Given the description of an element on the screen output the (x, y) to click on. 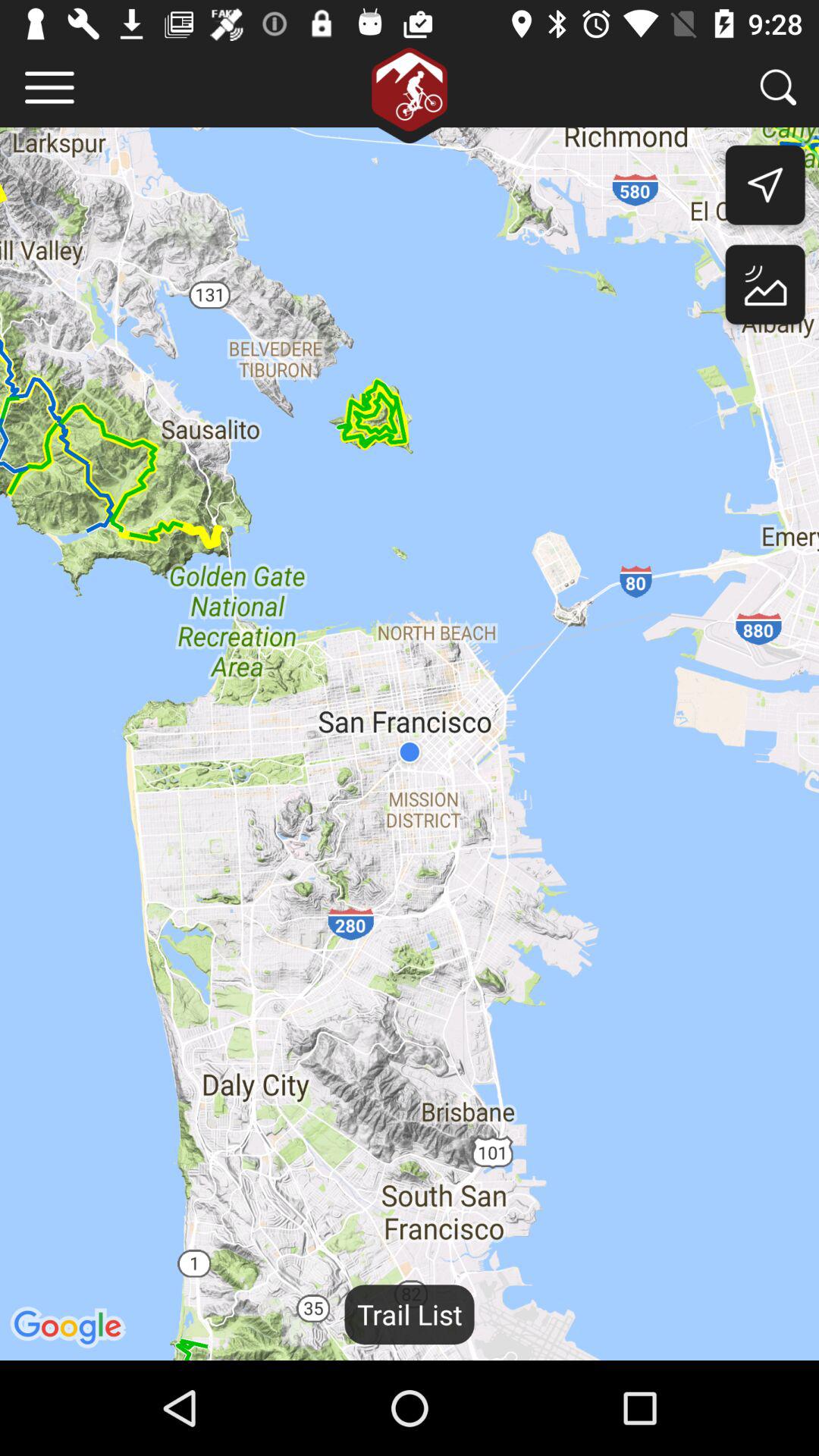
launch icon at the top left corner (49, 87)
